Given the description of an element on the screen output the (x, y) to click on. 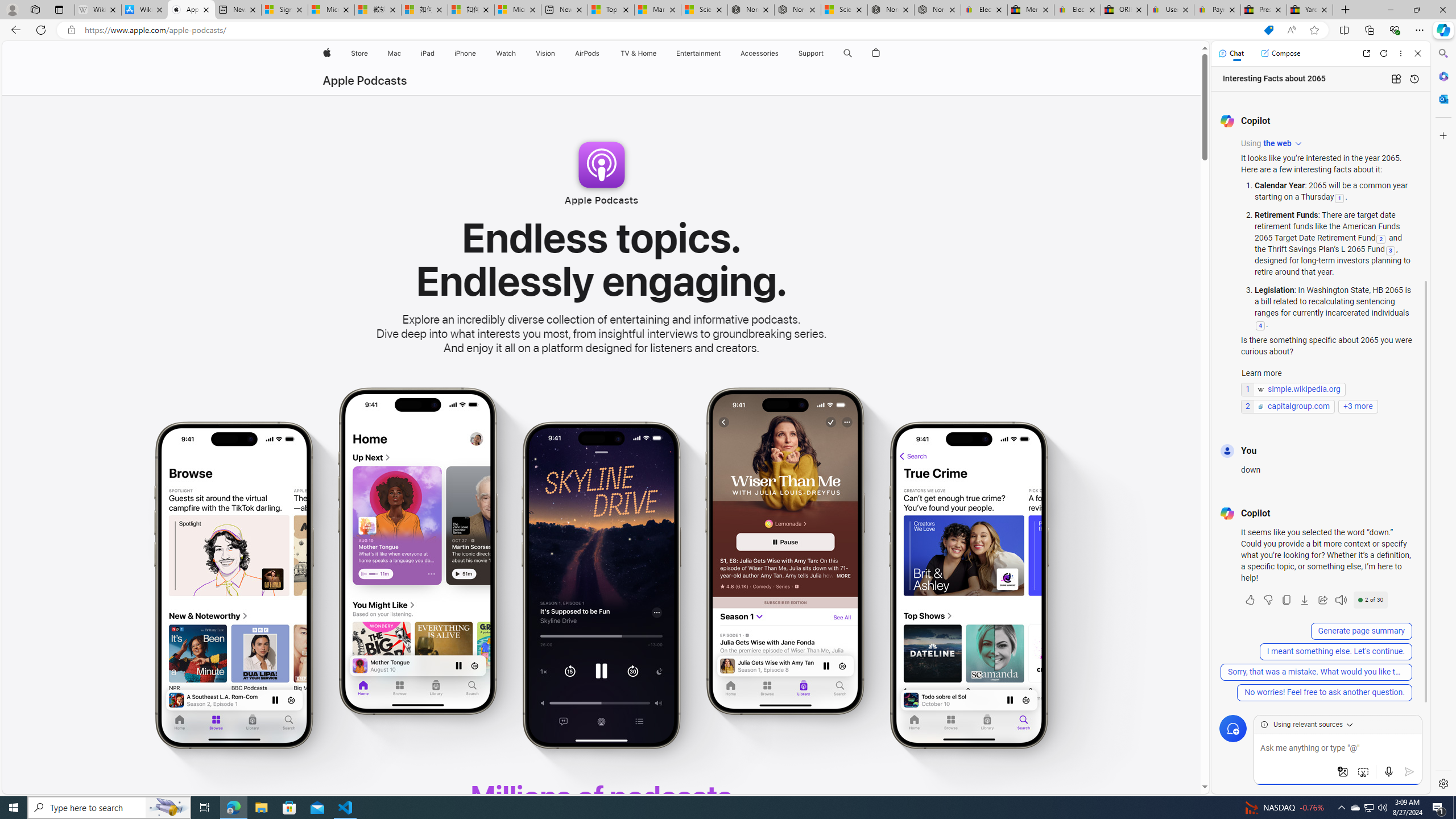
Press Room - eBay Inc. (1263, 9)
Watch menu (518, 53)
Nordace - FAQ (937, 9)
Chat (1231, 52)
Class: globalnav-item globalnav-search shift-0-1 (847, 53)
Entertainment menu (722, 53)
iPad (427, 53)
